Given the description of an element on the screen output the (x, y) to click on. 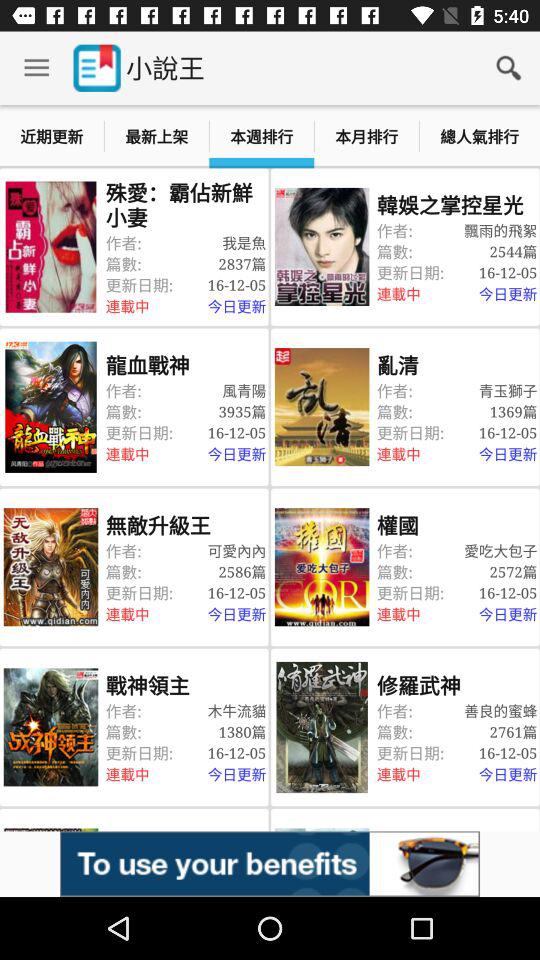
select the 8th image (321, 727)
